Given the description of an element on the screen output the (x, y) to click on. 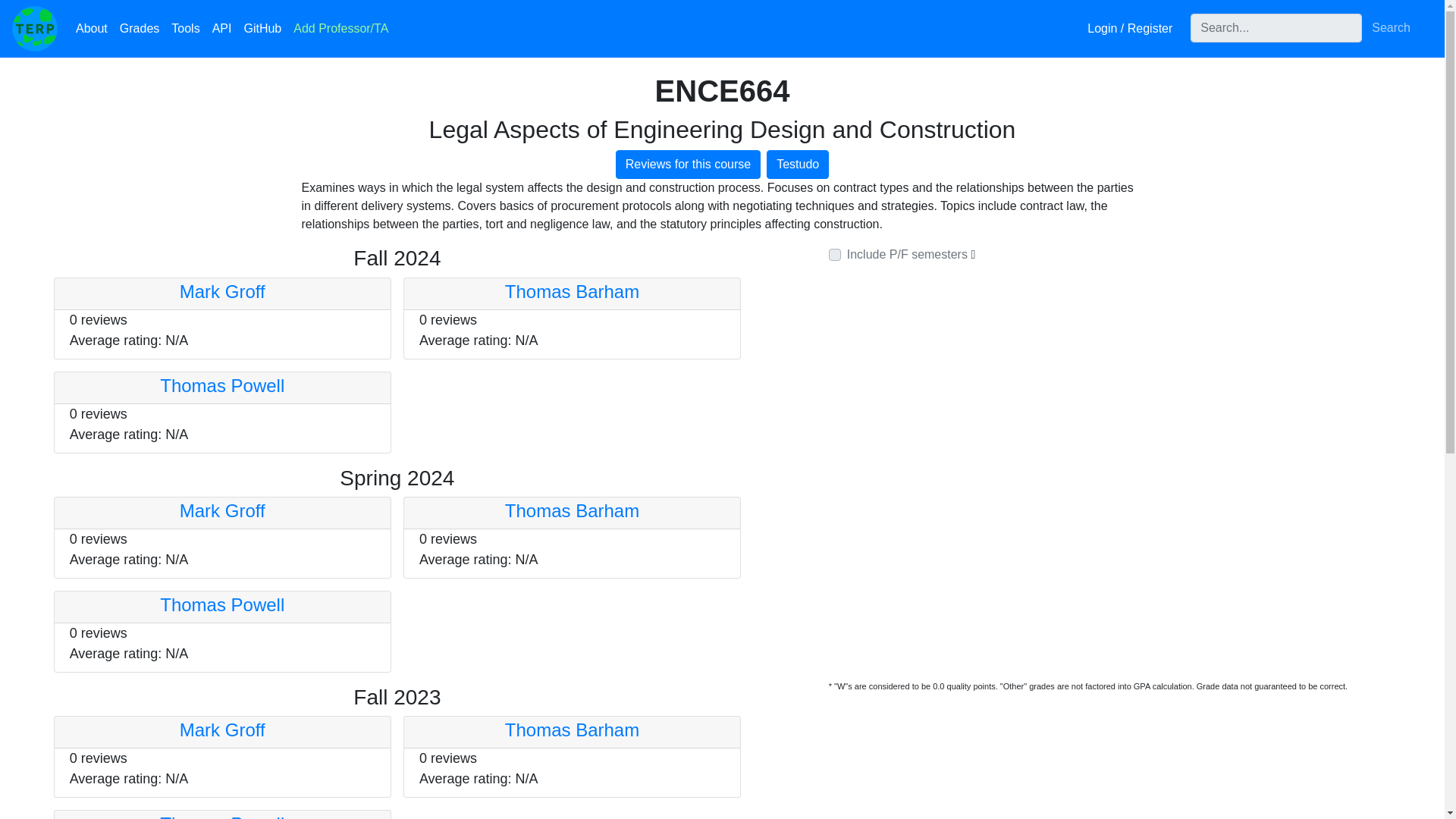
Testudo (797, 164)
About (91, 28)
Tools (185, 28)
Thomas Barham (572, 729)
Thomas Powell (221, 604)
Thomas Barham (572, 510)
GitHub (261, 28)
Reviews for this course (687, 164)
Thomas Barham (572, 291)
API (222, 28)
Mark Groff (221, 510)
Tools (185, 28)
Mark Groff (221, 729)
API (222, 28)
About (91, 28)
